Given the description of an element on the screen output the (x, y) to click on. 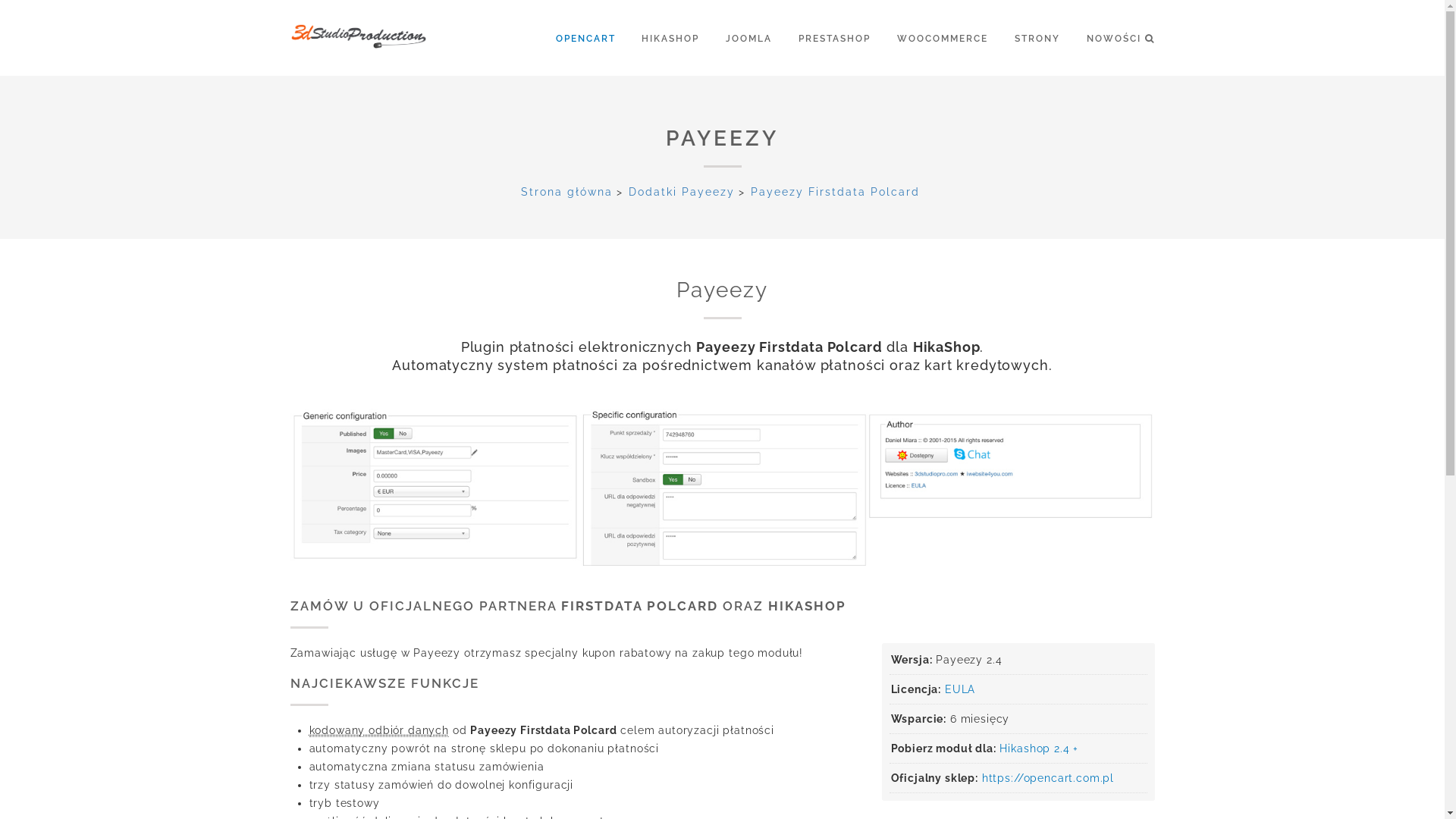
EULA Element type: text (959, 689)
STRONY Element type: text (1048, 37)
Dodatki Payeezy Element type: text (680, 191)
https://opencart.com.pl Element type: text (1047, 777)
OPENCART Element type: text (596, 37)
WOOCOMMERCE Element type: text (953, 37)
HIKASHOP Element type: text (681, 37)
JOOMLA Element type: text (759, 37)
Payeezy Firstdata Polcard Element type: text (834, 191)
Hikashop 2.4 + Element type: text (1038, 748)
PRESTASHOP Element type: text (845, 37)
